Given the description of an element on the screen output the (x, y) to click on. 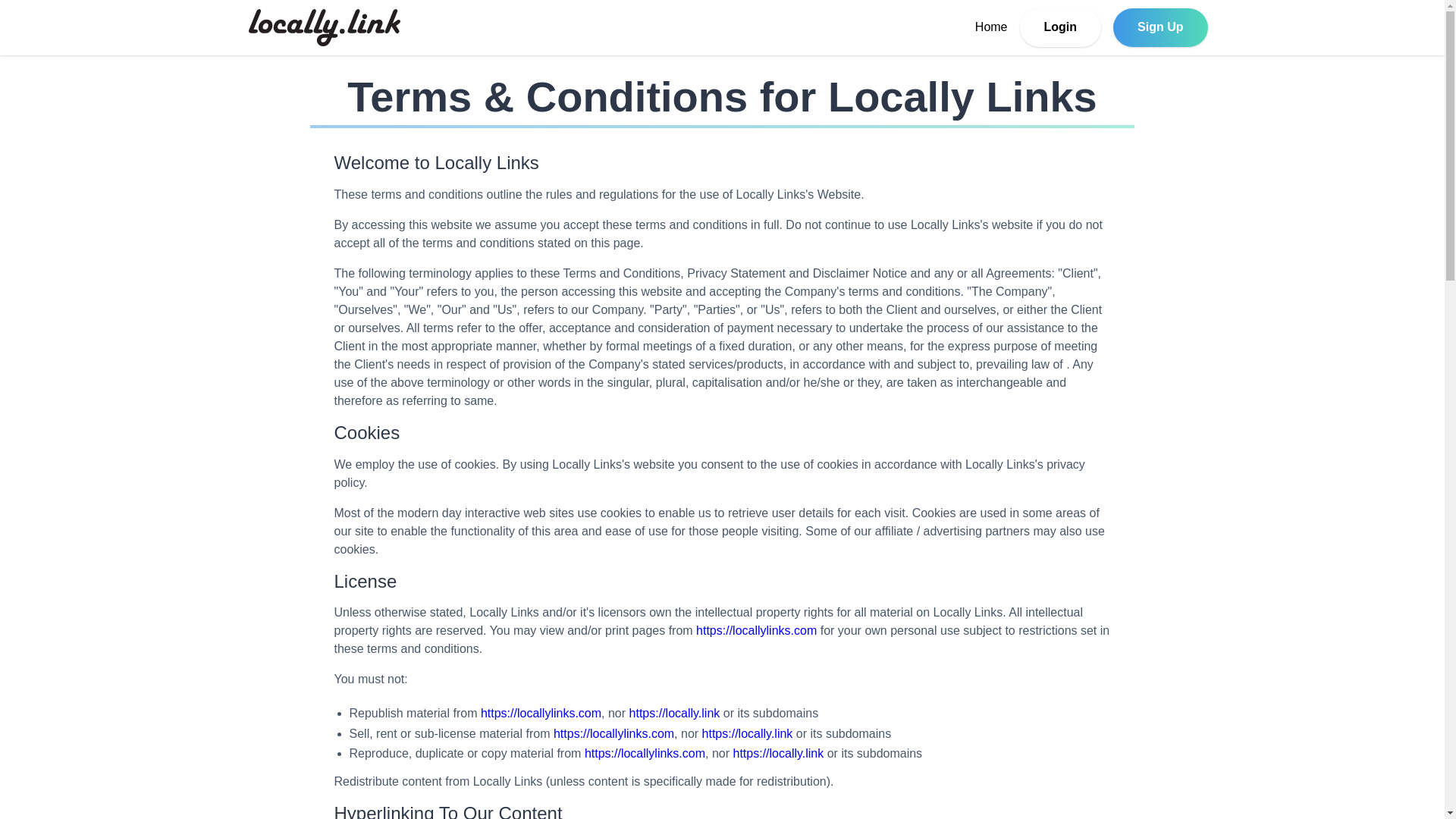
Sign Up (1160, 26)
Home (991, 26)
Login (1061, 26)
